Given the description of an element on the screen output the (x, y) to click on. 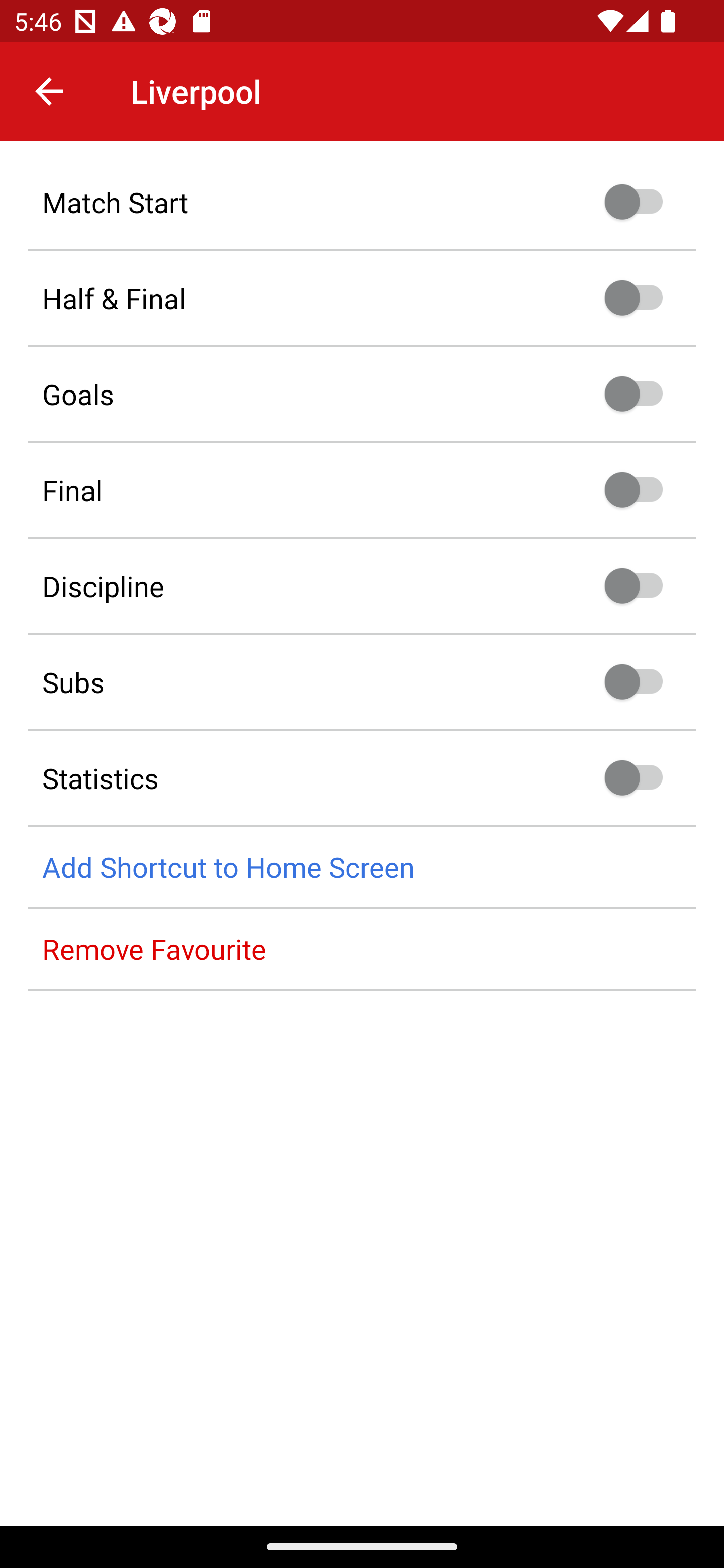
Navigate up (49, 91)
Add Shortcut to Home Screen (362, 867)
Remove Favourite (362, 948)
